Given the description of an element on the screen output the (x, y) to click on. 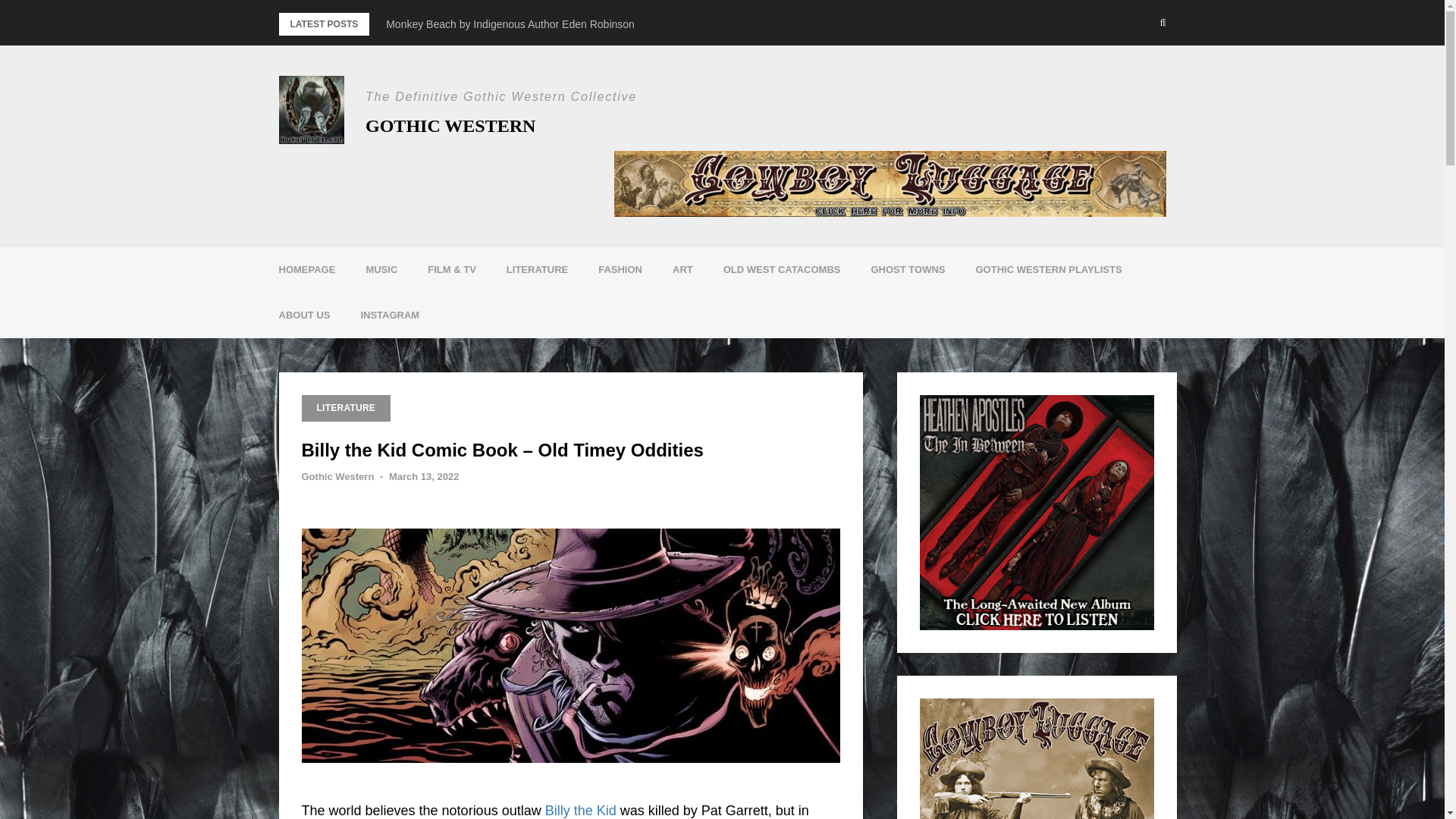
Monkey Beach by Indigenous Author Eden Robinson (509, 24)
HOMEPAGE (306, 269)
Art (682, 269)
Gothic Western Playlists (1048, 269)
GOTHIC WESTERN (450, 125)
Homepage (306, 269)
OLD WEST CATACOMBS (781, 269)
FASHION (620, 269)
LITERATURE (537, 269)
Ghost Towns (907, 269)
INSTAGRAM (389, 315)
MUSIC (381, 269)
GOTHIC WESTERN PLAYLISTS (1048, 269)
Old West Catacombs (781, 269)
ABOUT US (304, 315)
